Given the description of an element on the screen output the (x, y) to click on. 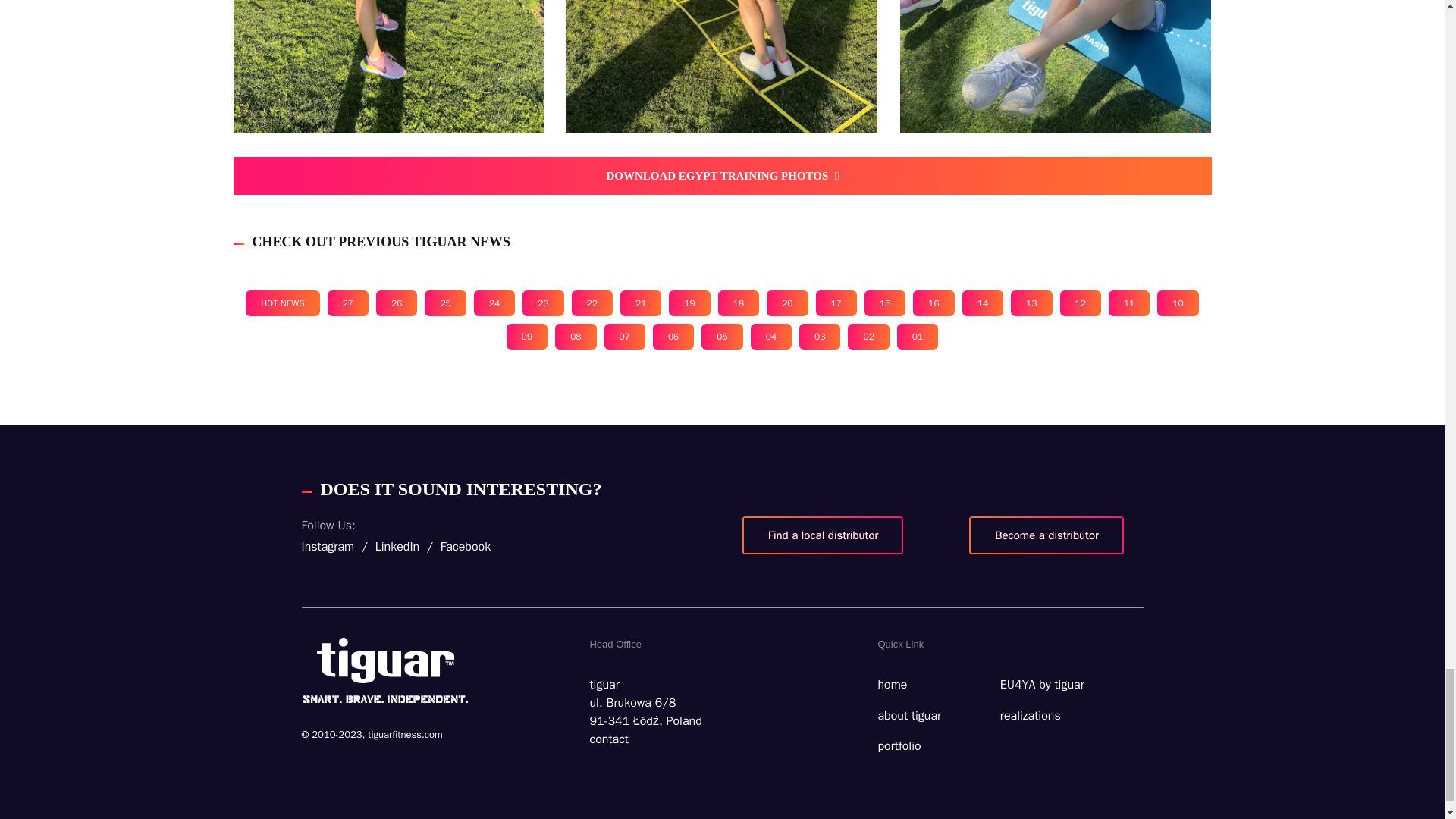
23 (542, 303)
21 (640, 303)
27 (347, 303)
18 (737, 303)
26 (395, 303)
17 (836, 303)
DOWNLOAD EGYPT TRAINING PHOTOS (721, 175)
16 (932, 303)
12 (1079, 303)
22 (592, 303)
25 (445, 303)
13 (1030, 303)
HOT NEWS (282, 303)
15 (884, 303)
19 (689, 303)
